Given the description of an element on the screen output the (x, y) to click on. 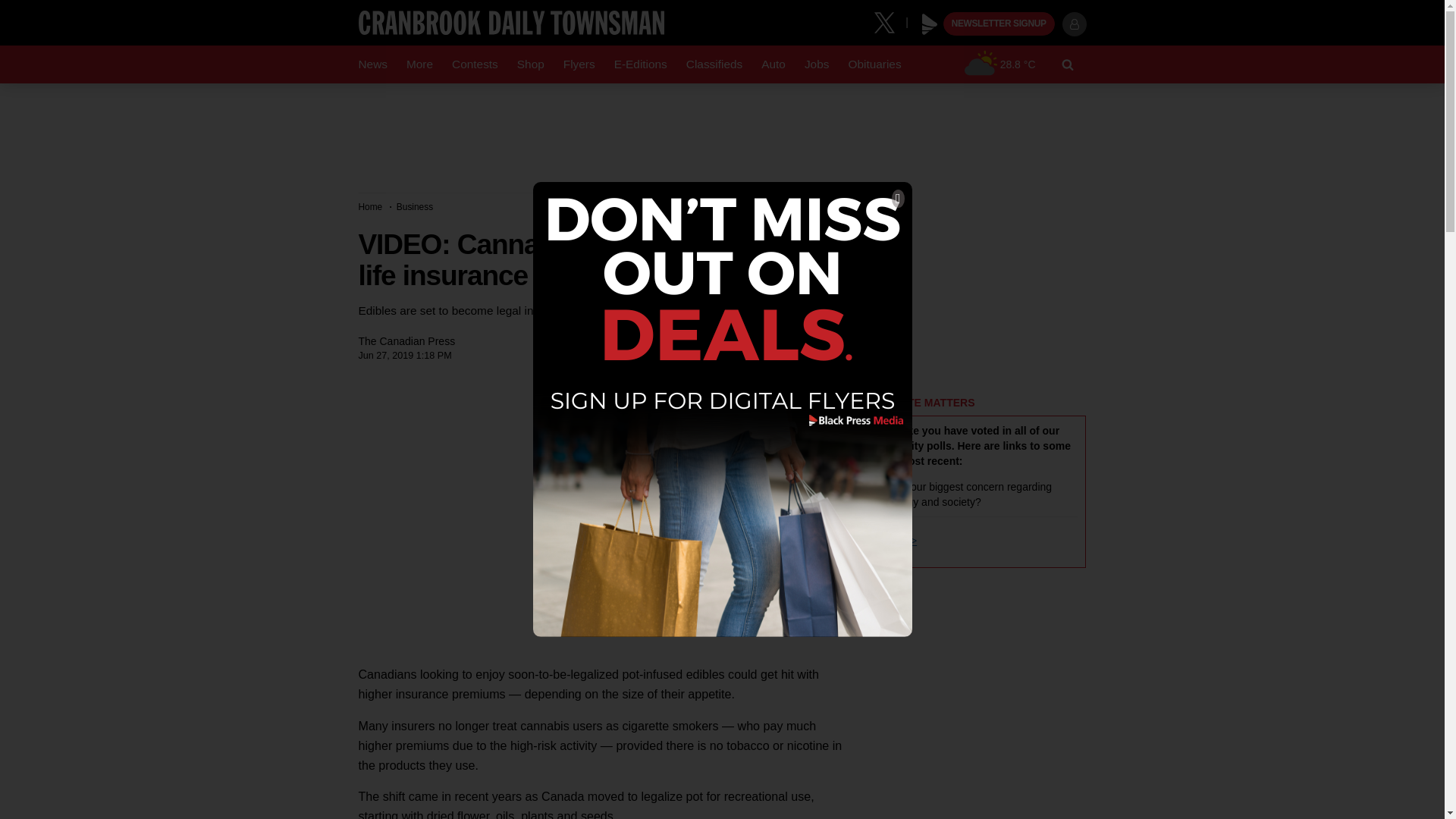
X (889, 21)
Play (929, 24)
News (372, 64)
NEWSLETTER SIGNUP (998, 24)
Black Press Media (929, 24)
